Given the description of an element on the screen output the (x, y) to click on. 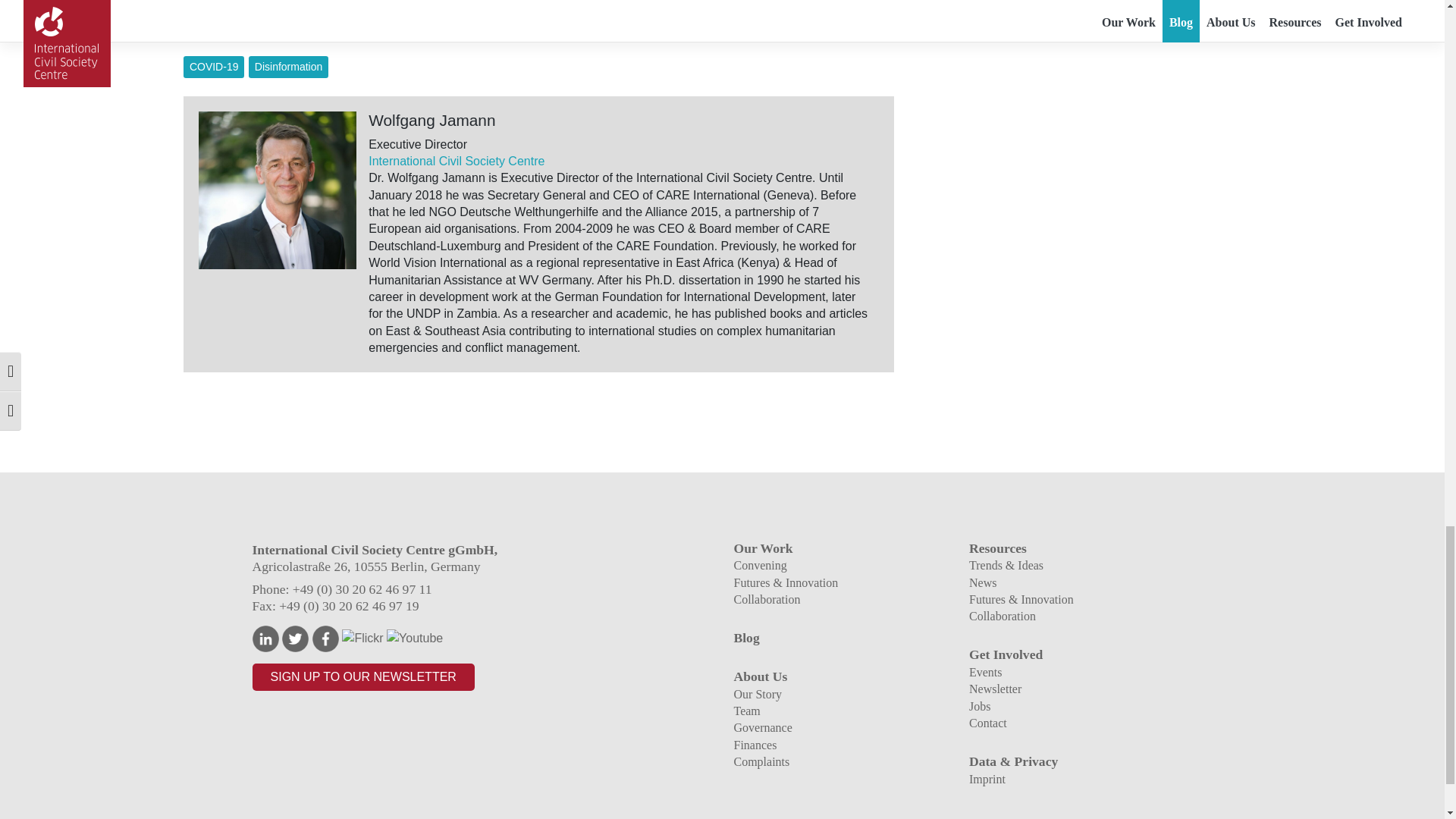
Disinformation (288, 66)
smart and scalable answers (713, 10)
International Civil Society Centre (456, 160)
COVID-19 (213, 66)
